Given the description of an element on the screen output the (x, y) to click on. 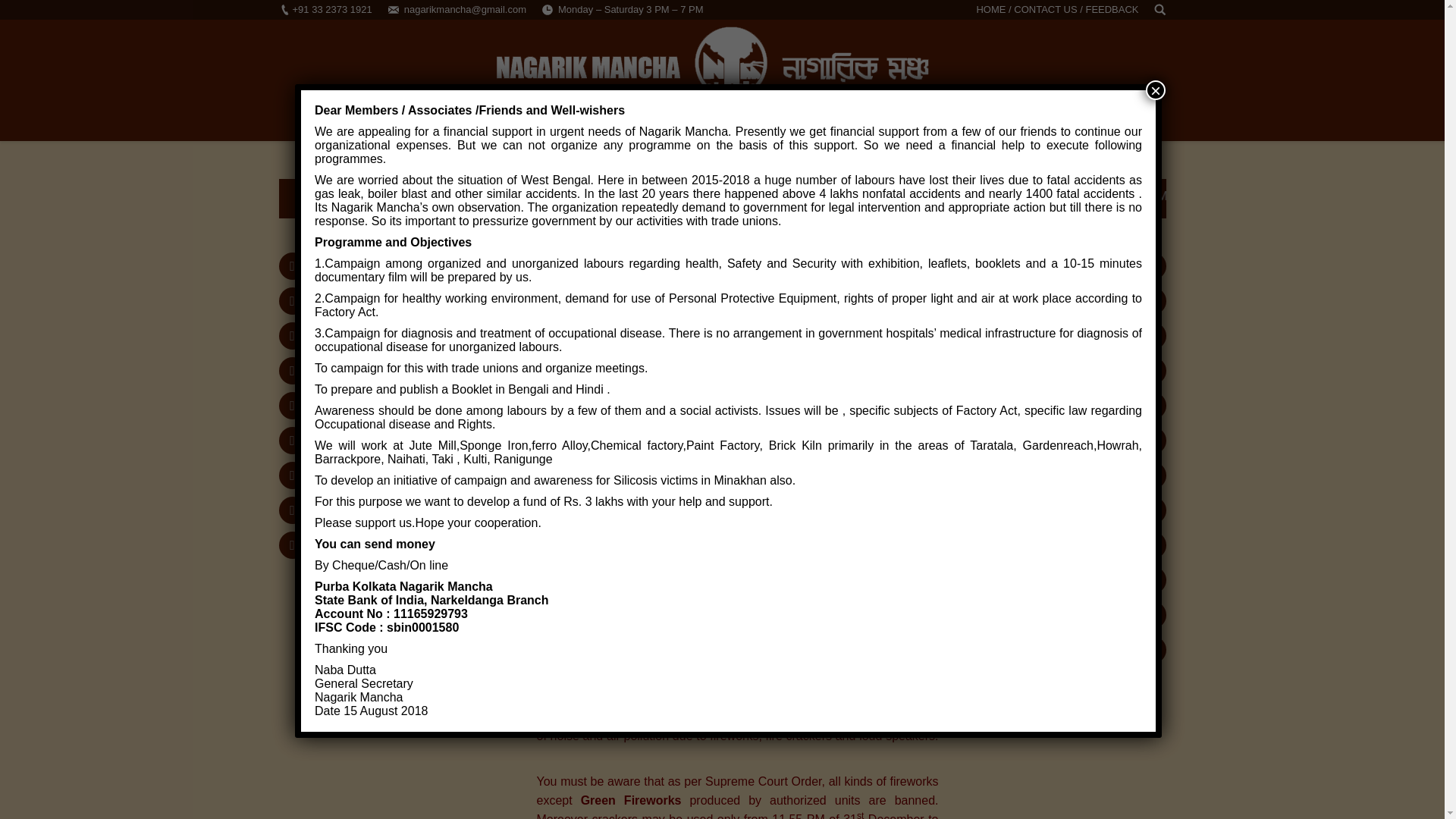
CONTACT US (1045, 9)
Our Book Shop (355, 440)
About Us (340, 266)
Go! (19, 15)
Ongoing and Forthcoming Activities (400, 370)
Our Present Team (362, 510)
FEEDBACK (1111, 9)
Publication List (356, 405)
HOME (990, 9)
Objective and Activities (376, 336)
Manushi Boighar (372, 475)
Read More (707, 345)
